Given the description of an element on the screen output the (x, y) to click on. 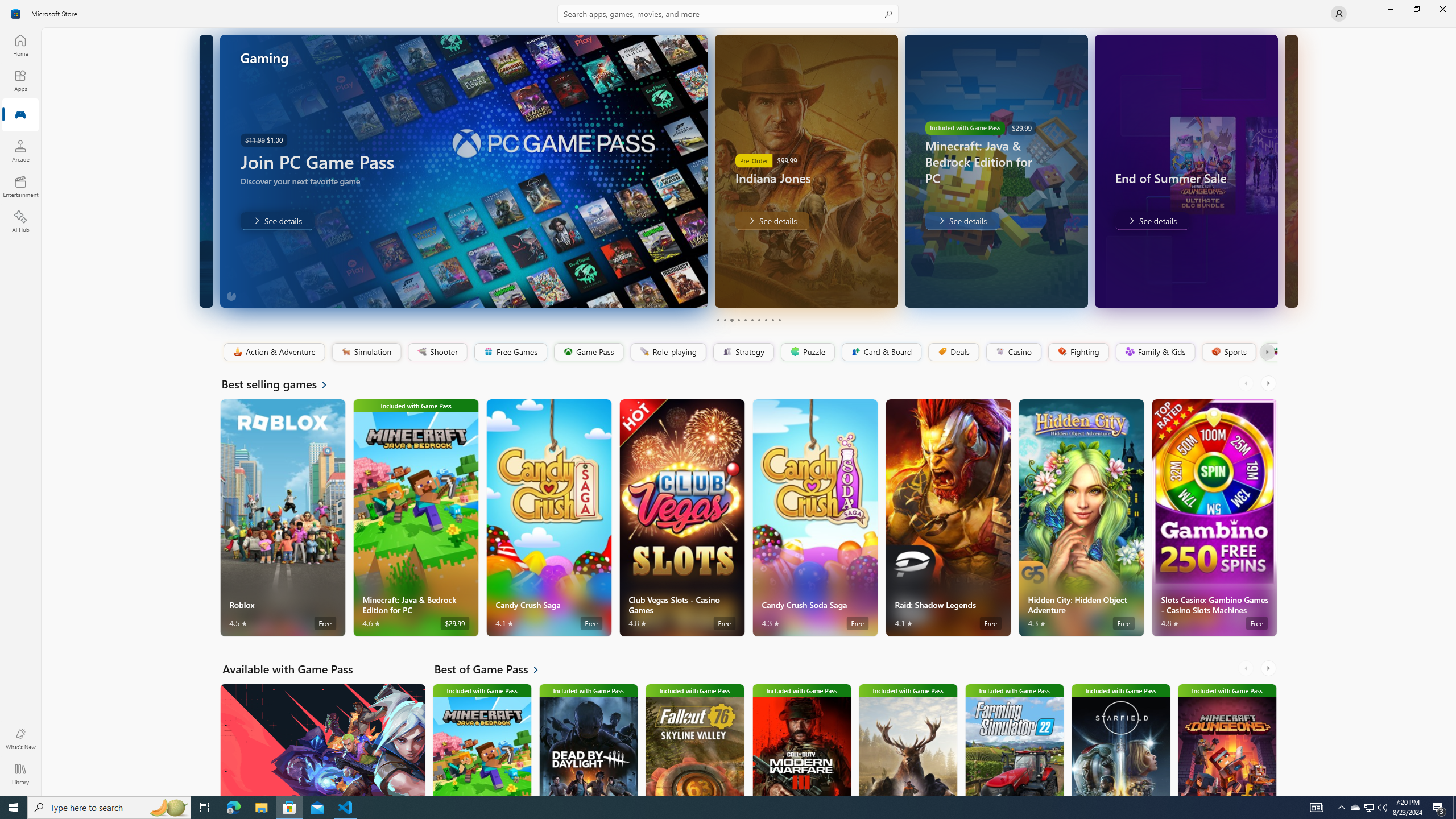
AutomationID: NavigationControl (728, 398)
Page 2 (724, 319)
Gaming (20, 115)
Page 8 (764, 319)
User profile (1338, 13)
Arcade (20, 150)
Platformer (1269, 352)
Page 5 (744, 319)
Strategy (742, 352)
Library (20, 773)
